Given the description of an element on the screen output the (x, y) to click on. 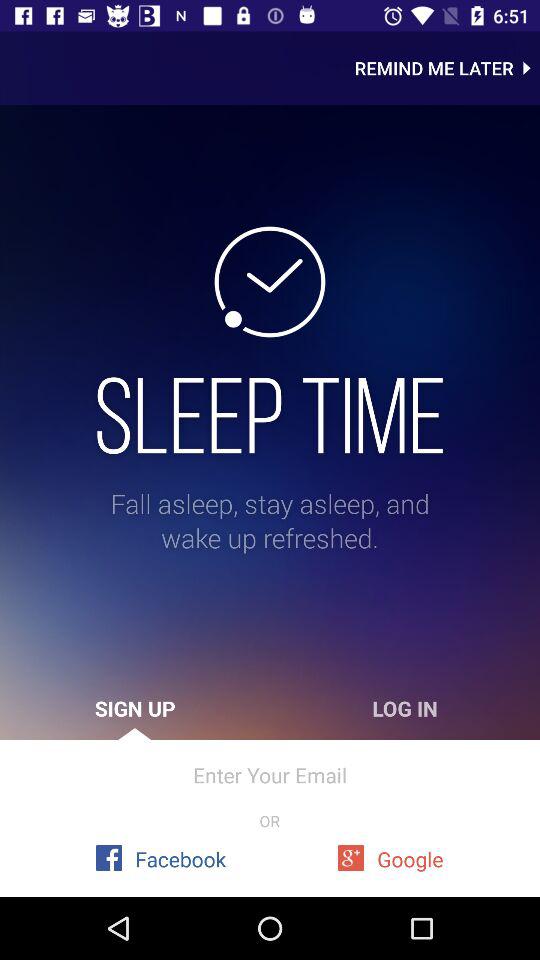
flip to sleep time icon (270, 415)
